Given the description of an element on the screen output the (x, y) to click on. 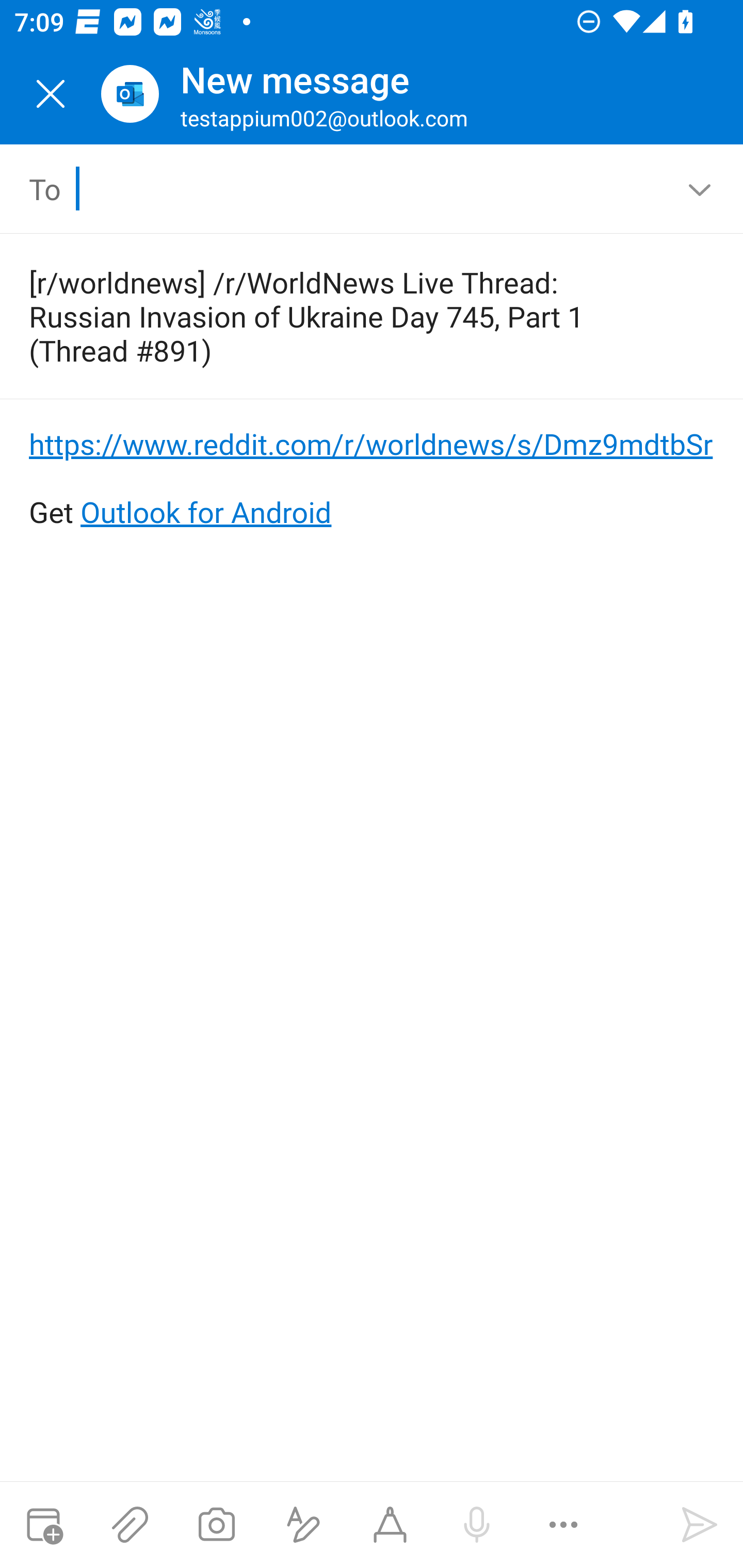
Close (50, 93)
Attach meeting (43, 1524)
Attach files (129, 1524)
Take a photo (216, 1524)
Show formatting options (303, 1524)
Start Ink compose (389, 1524)
More options (563, 1524)
Send (699, 1524)
